Given the description of an element on the screen output the (x, y) to click on. 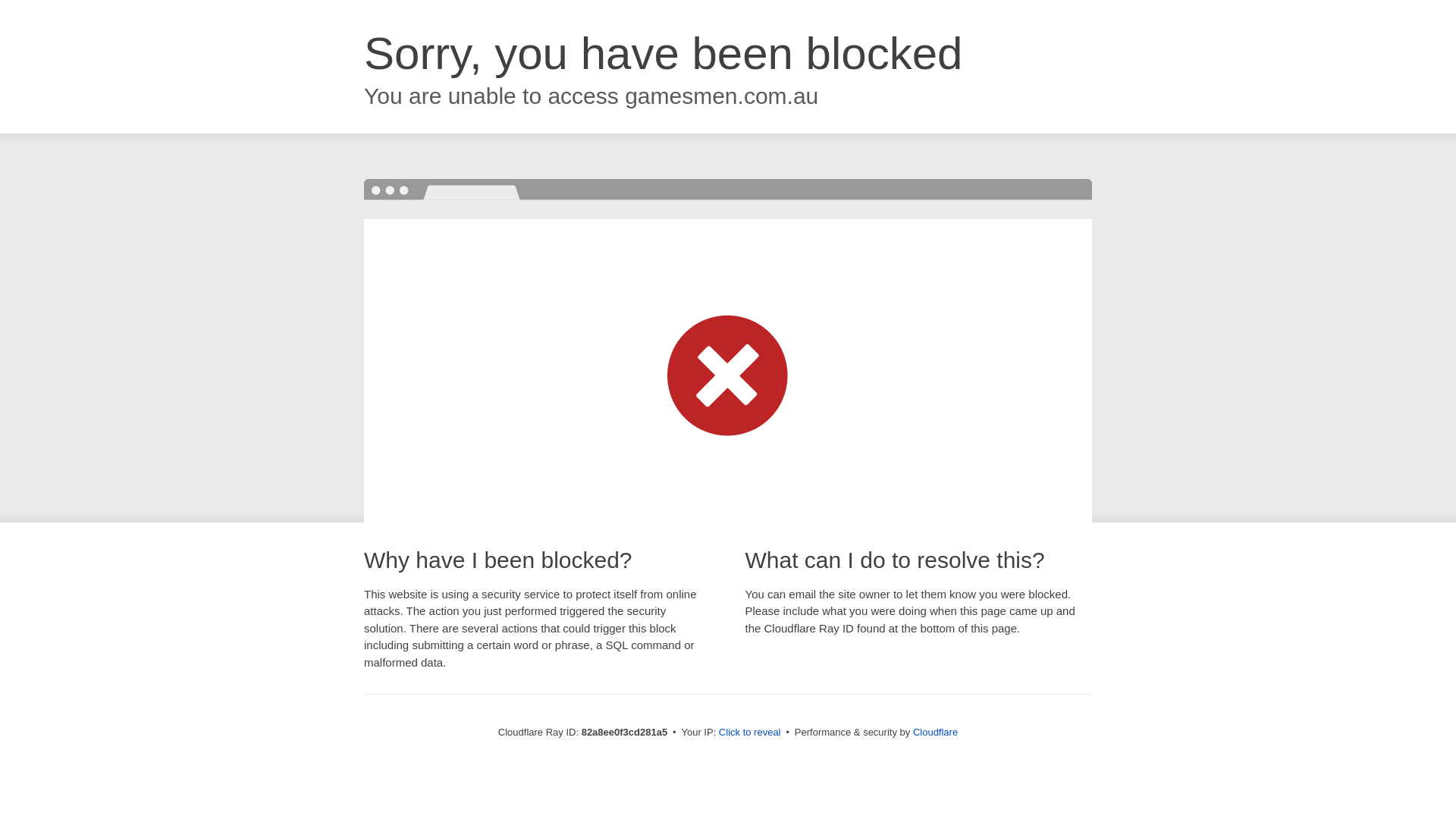
Click to reveal Element type: text (749, 732)
Cloudflare Element type: text (935, 731)
